Given the description of an element on the screen output the (x, y) to click on. 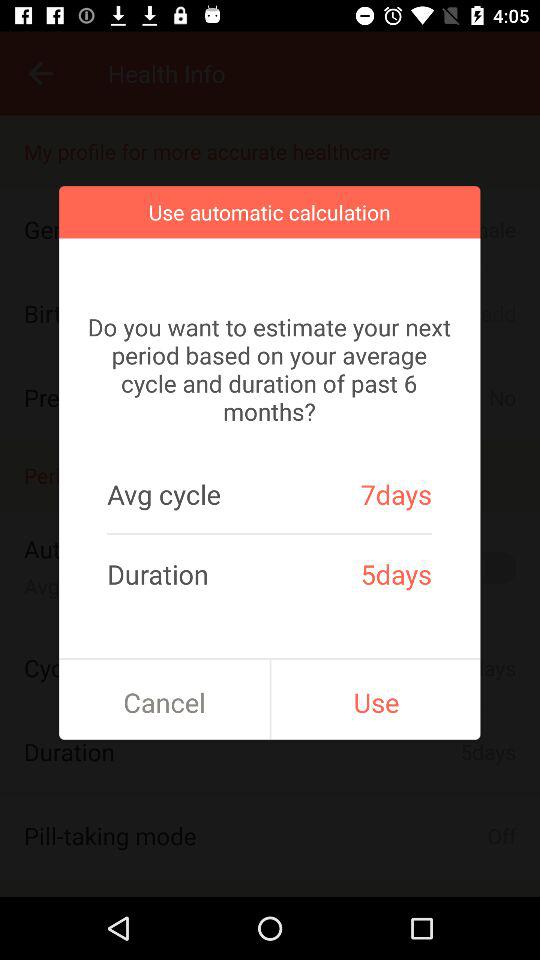
click the cancel icon (164, 702)
